Given the description of an element on the screen output the (x, y) to click on. 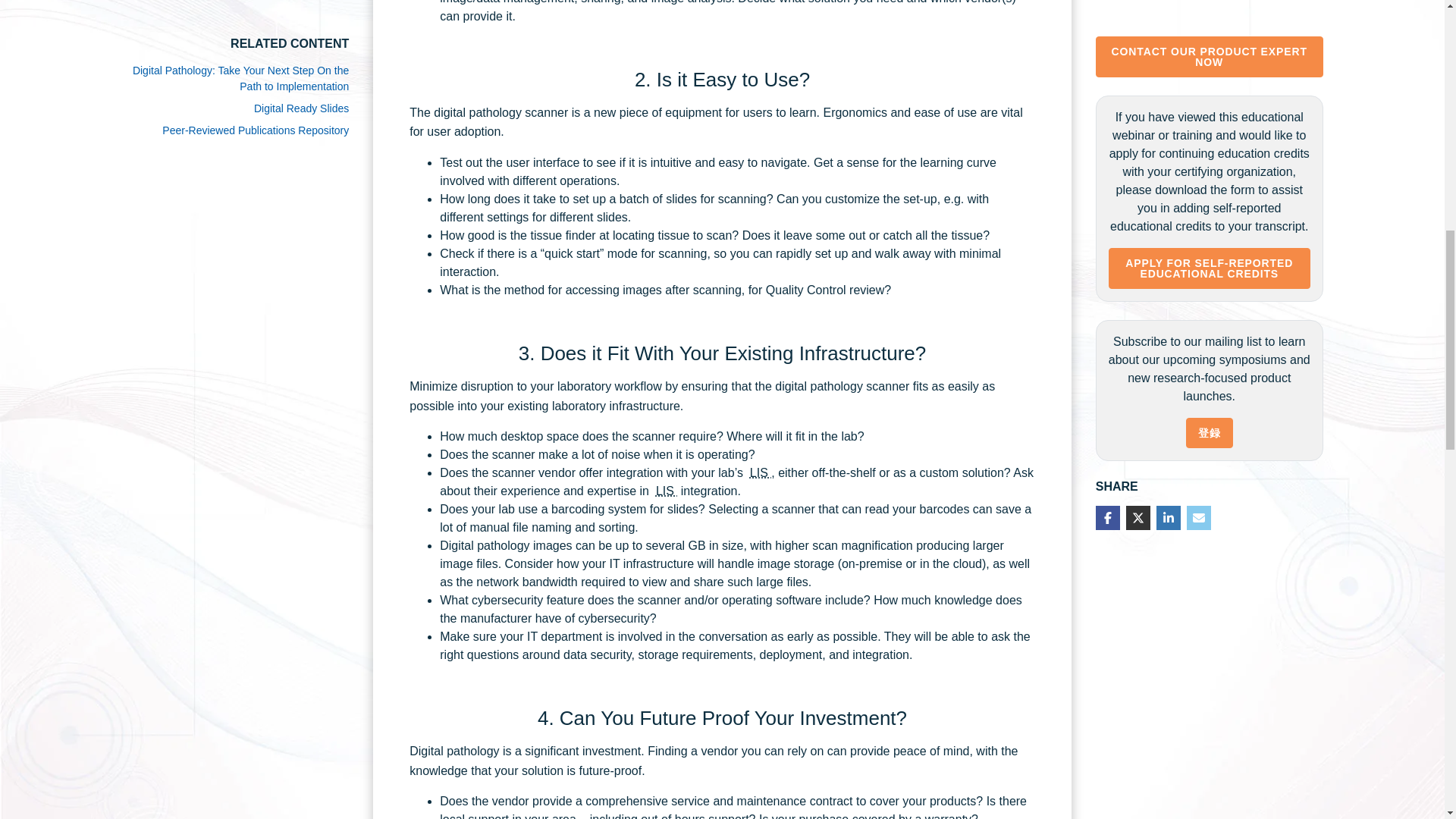
Laboratory Information Systems (666, 490)
Laboratory Information Systems (760, 472)
